Given the description of an element on the screen output the (x, y) to click on. 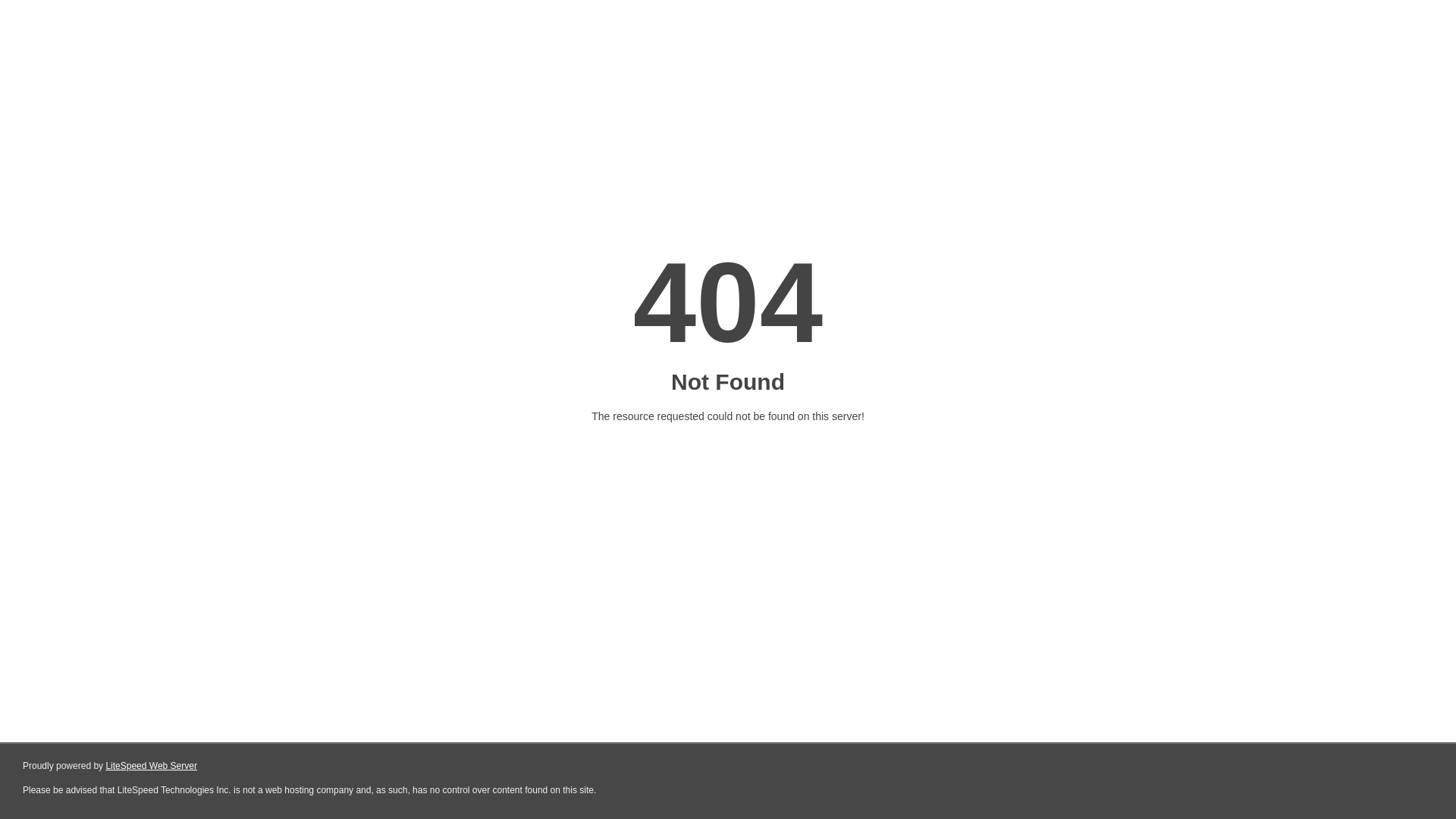
LiteSpeed Web Server Element type: text (151, 765)
